Given the description of an element on the screen output the (x, y) to click on. 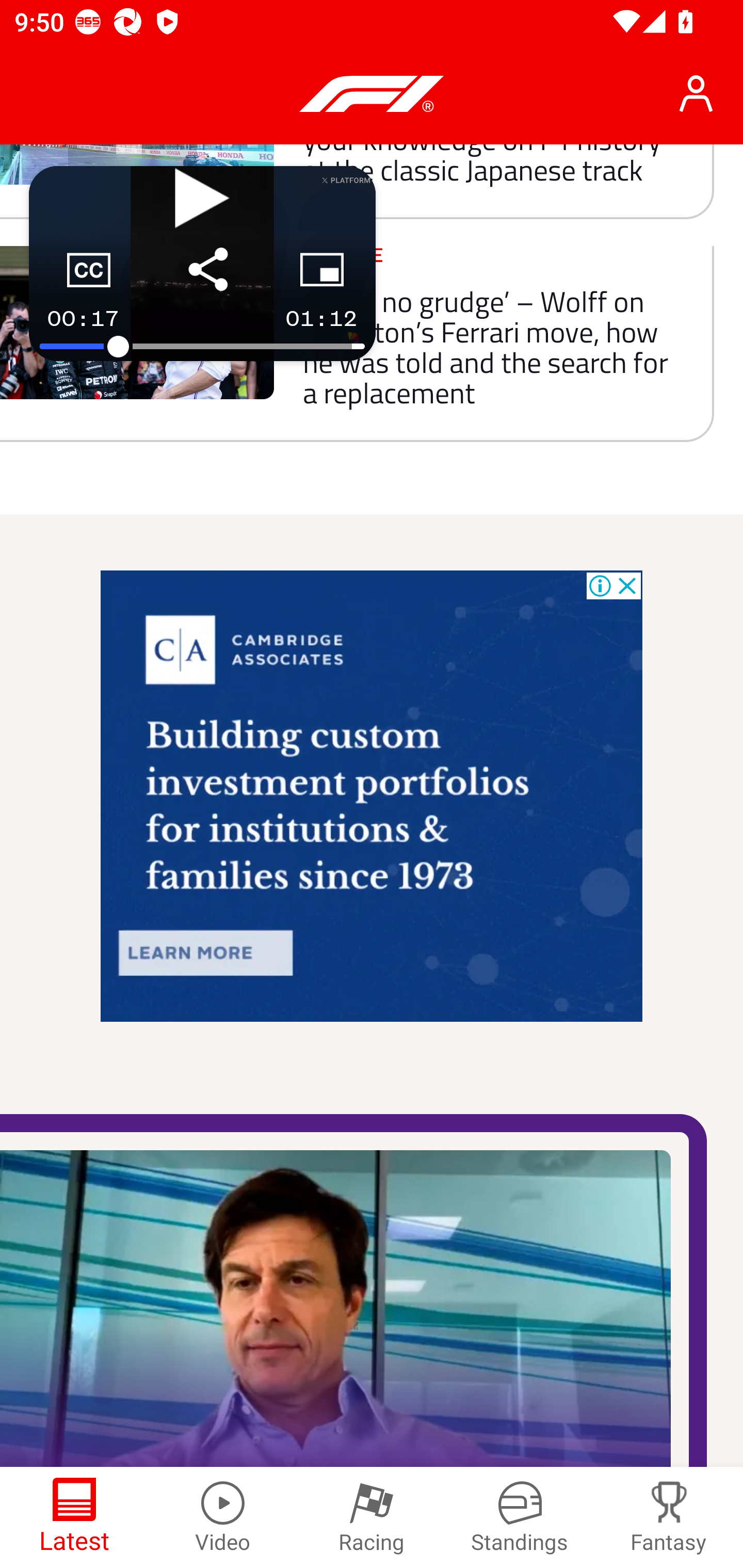
Video (222, 1517)
Racing (371, 1517)
Standings (519, 1517)
Fantasy (668, 1517)
